Given the description of an element on the screen output the (x, y) to click on. 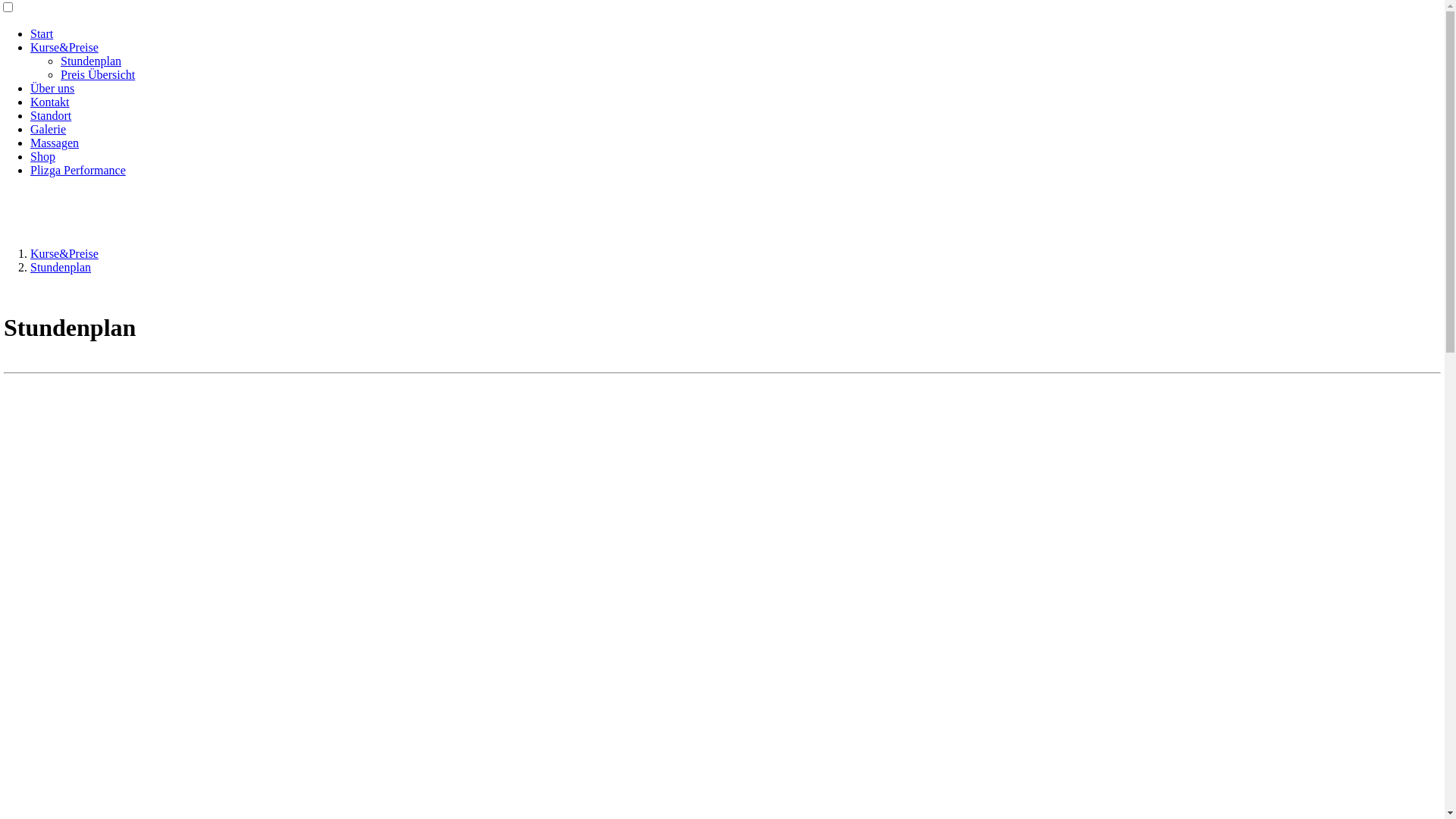
Galerie Element type: text (47, 128)
Kurse&Preise Element type: text (64, 253)
Kurse&Preise Element type: text (64, 46)
Stundenplan Element type: text (60, 266)
Standort Element type: text (50, 115)
Shop Element type: text (42, 156)
Stundenplan Element type: text (90, 60)
Kontakt Element type: text (49, 101)
Start Element type: text (41, 33)
Plizga Performance Element type: text (77, 169)
Massagen Element type: text (54, 142)
